Given the description of an element on the screen output the (x, y) to click on. 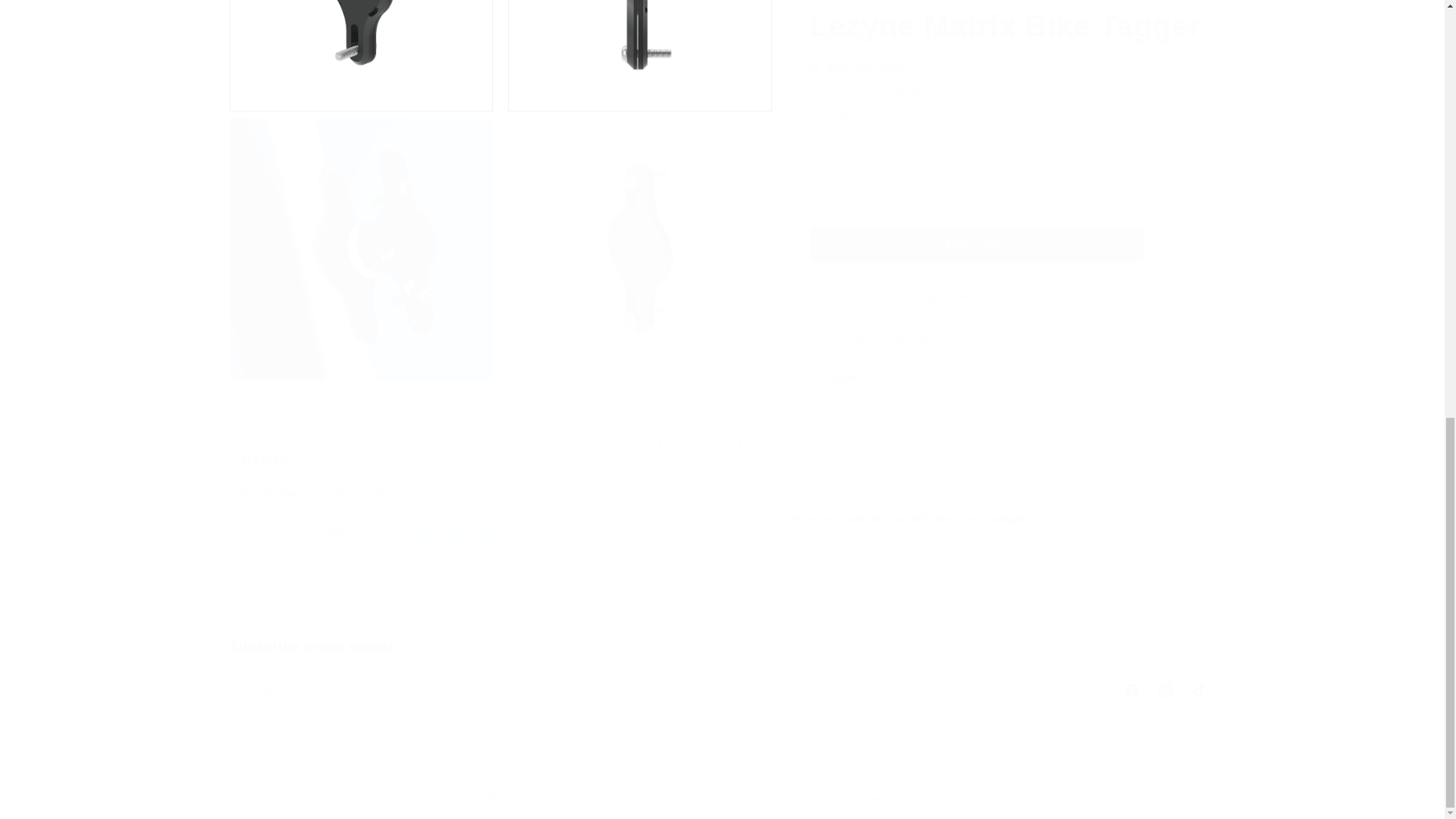
Open media 4 in modal (721, 672)
Open media 3 in modal (360, 234)
Open media 2 in modal (639, 48)
Open media 5 in modal (360, 48)
